Given the description of an element on the screen output the (x, y) to click on. 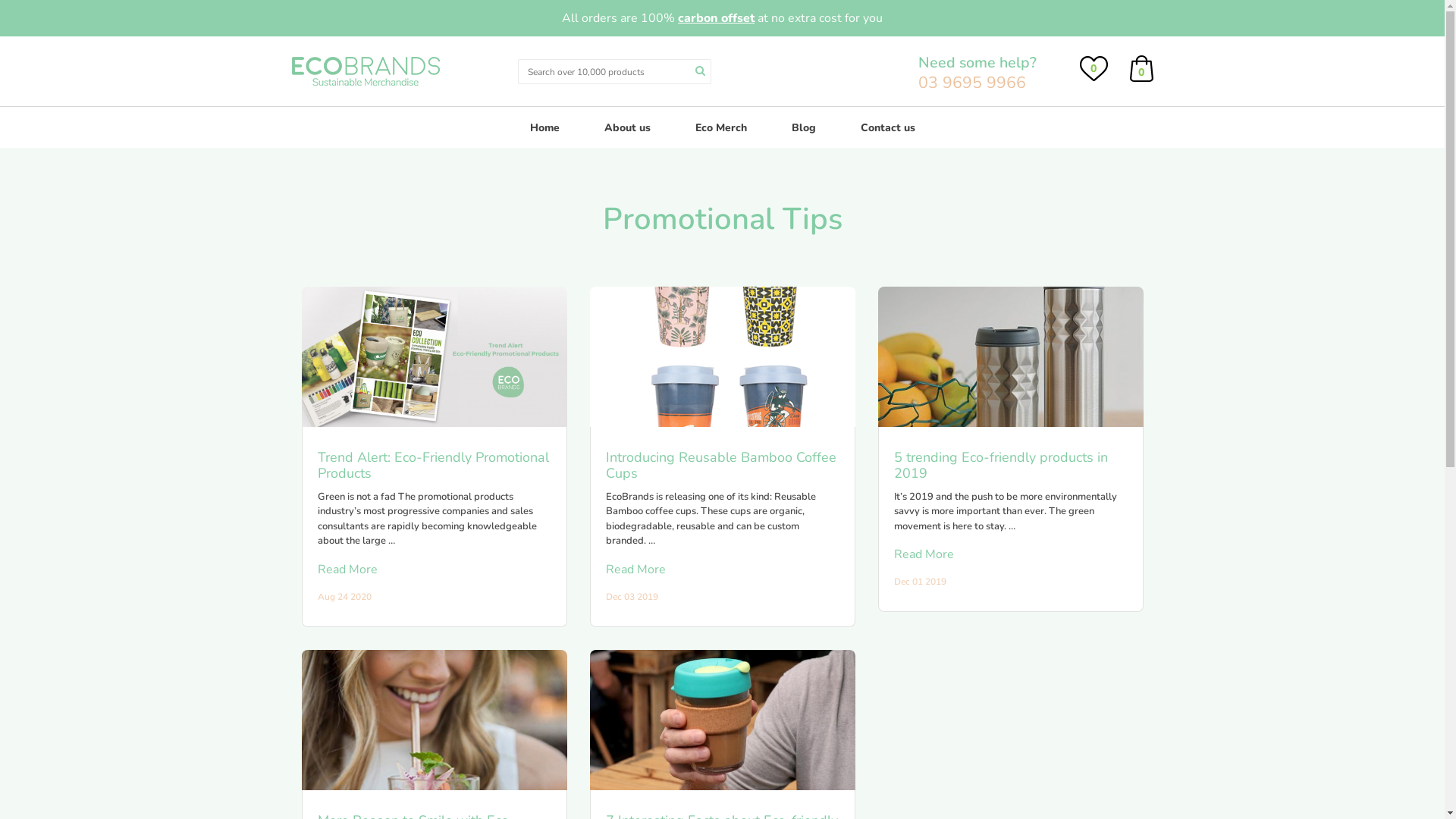
Contact us Element type: text (886, 127)
Read More Element type: text (721, 569)
0 Element type: text (1093, 67)
About us Element type: text (626, 127)
Introducing Reusable Bamboo Coffee Cups Element type: text (721, 465)
0 Element type: text (1140, 67)
Home Element type: text (543, 127)
Trend Alert: Eco-Friendly Promotional Products Element type: text (433, 465)
Ecobrands Element type: hover (364, 69)
Blog Element type: text (803, 127)
Read More Element type: text (433, 569)
Subscribe Element type: text (108, 14)
Read More Element type: text (1009, 554)
Eco Merch Element type: text (720, 127)
5 trending Eco-friendly products in 2019 Element type: text (1009, 465)
